Given the description of an element on the screen output the (x, y) to click on. 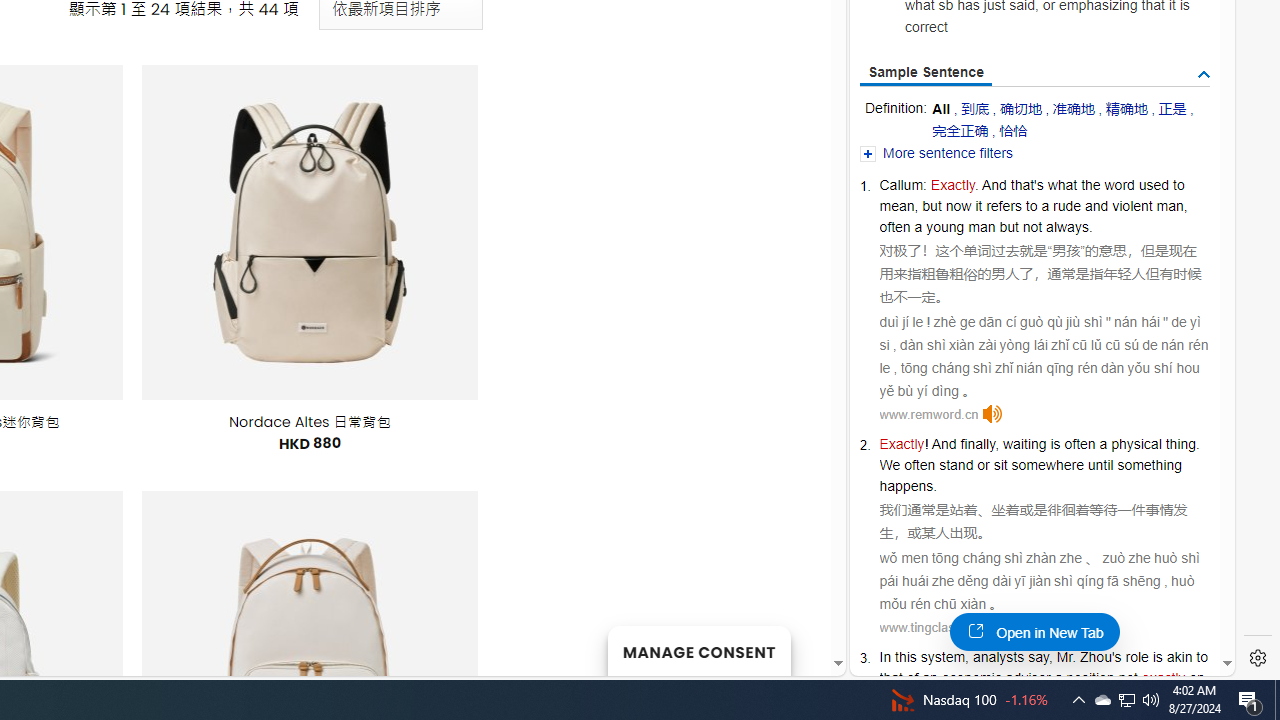
adviser (1027, 678)
role (1137, 656)
but (1008, 226)
now (957, 205)
analysts (998, 656)
Click to listen (996, 627)
used (1153, 184)
the (1090, 184)
